Given the description of an element on the screen output the (x, y) to click on. 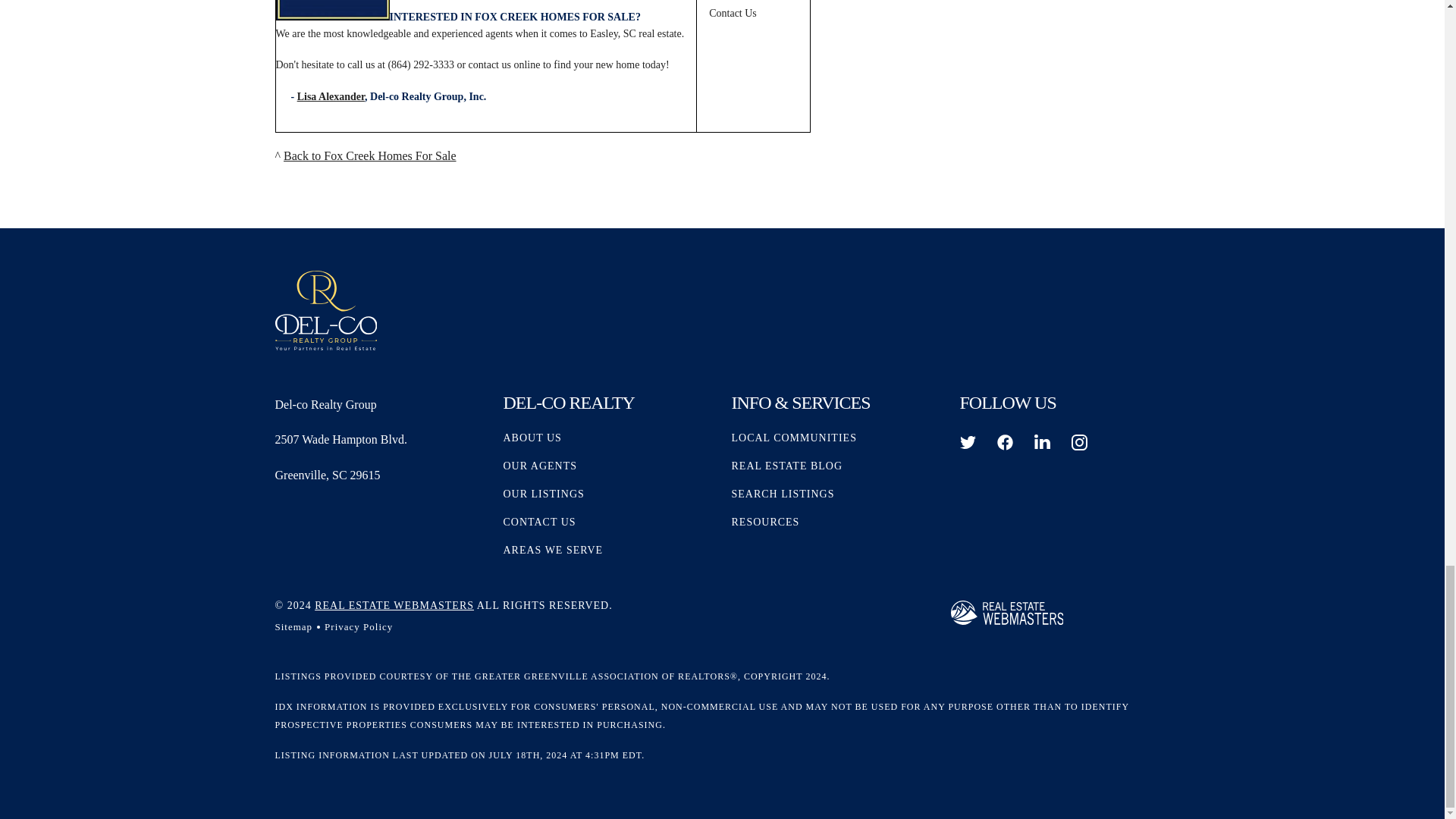
LINKEDIN (1041, 442)
FACEBOOK (1003, 442)
TWITTER (967, 442)
